Given the description of an element on the screen output the (x, y) to click on. 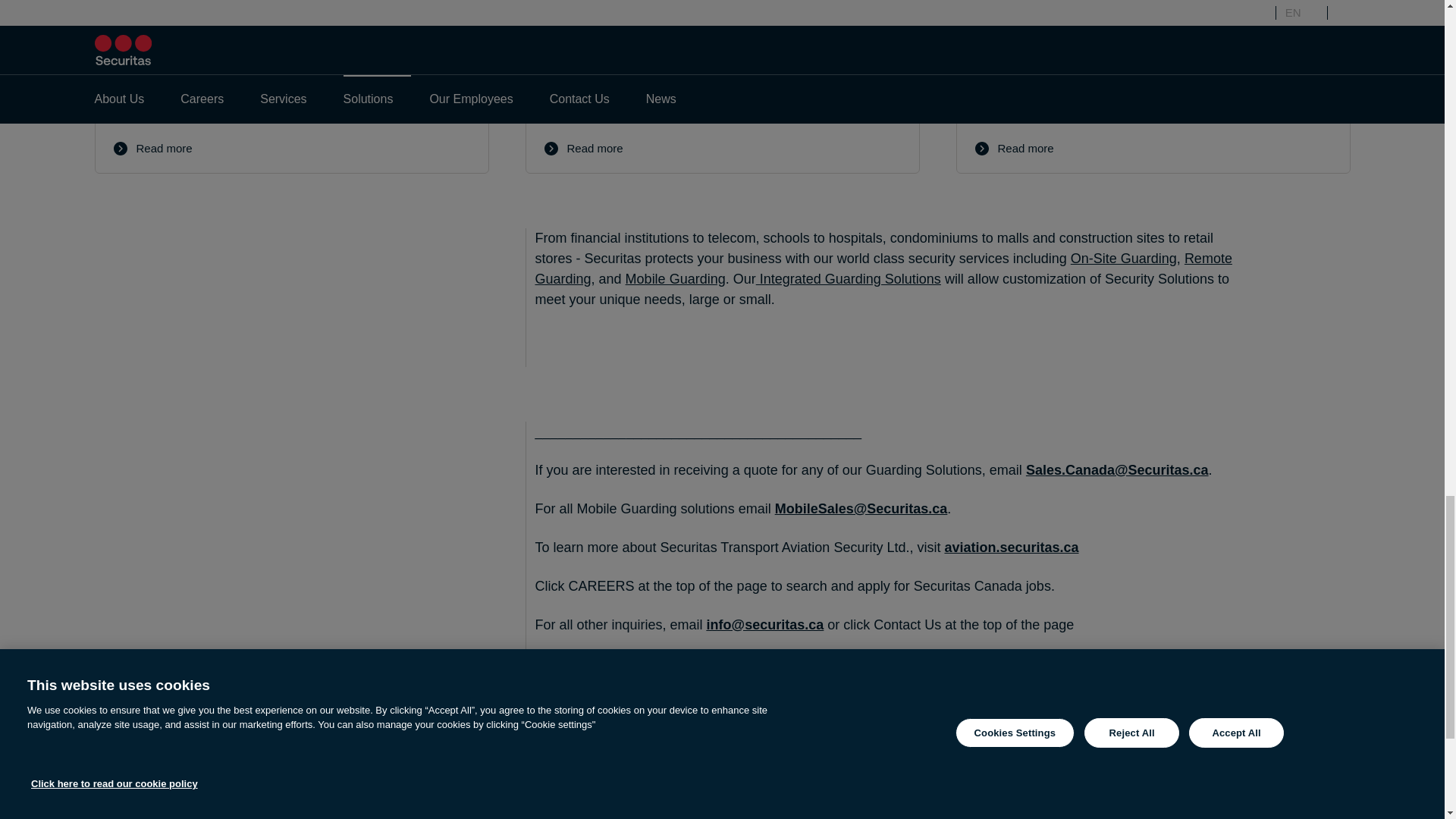
Aviation (1010, 547)
Retail Security (290, 86)
Public Government Security (1152, 86)
Cookie Policy (122, 768)
